Given the description of an element on the screen output the (x, y) to click on. 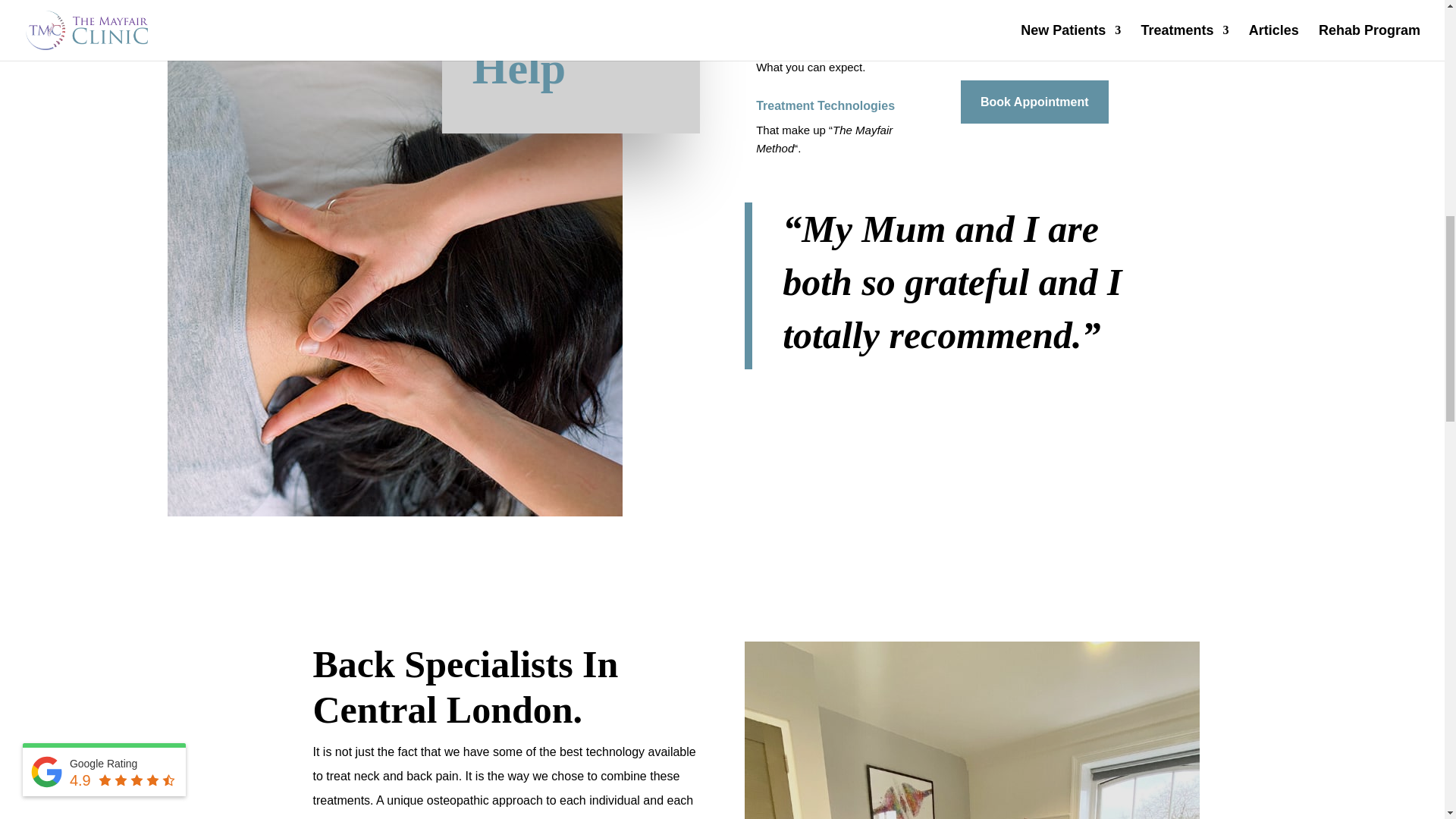
Book Appointment (1034, 101)
